Given the description of an element on the screen output the (x, y) to click on. 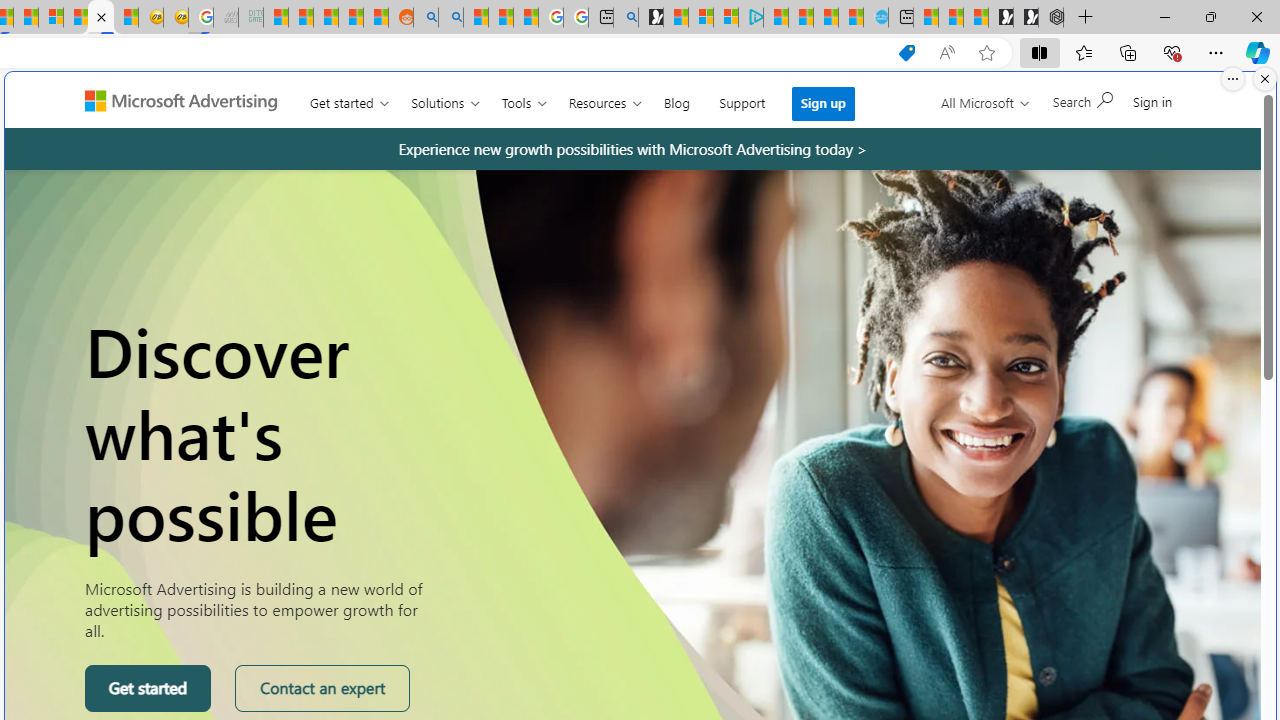
Home | Sky Blue Bikes - Sky Blue Bikes (876, 17)
Blog (676, 98)
Browser essentials (1171, 52)
Close tab (101, 16)
Microsoft Start Gaming (650, 17)
No, thanks (965, 109)
Shopping in Microsoft Edge (906, 53)
Contact an expert (322, 688)
Utah sues federal government - Search (451, 17)
Create images, get help with writing, and search faster (91, 108)
